Given the description of an element on the screen output the (x, y) to click on. 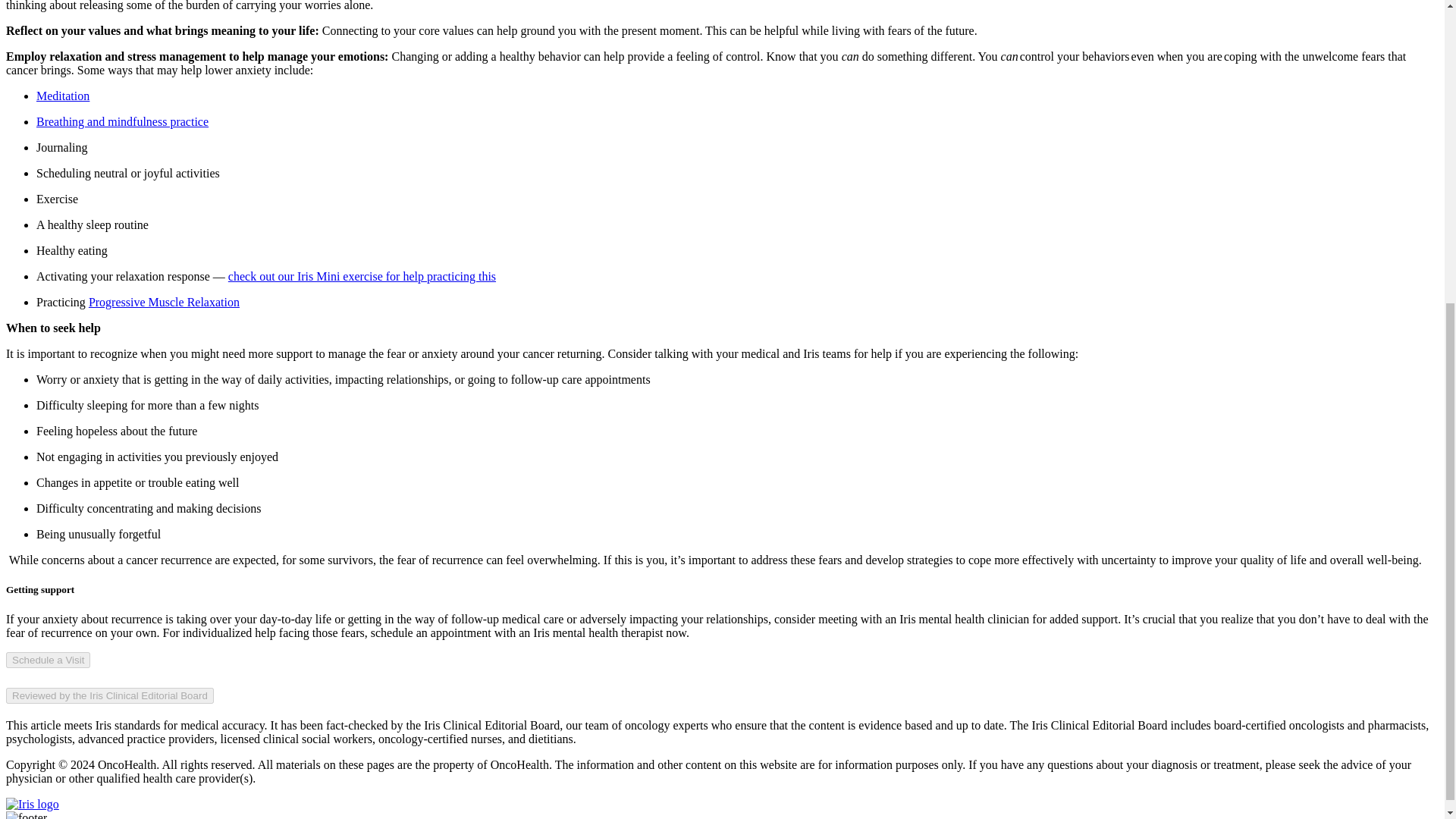
Schedule a Visit (47, 658)
Schedule a Visit (47, 659)
Breathing and mindfulness practice (122, 121)
Meditation (62, 95)
Progressive Muscle Relaxation (164, 301)
Reviewed by the Iris Clinical Editorial Board (109, 695)
check out our Iris Mini exercise for help practicing this (362, 276)
